Given the description of an element on the screen output the (x, y) to click on. 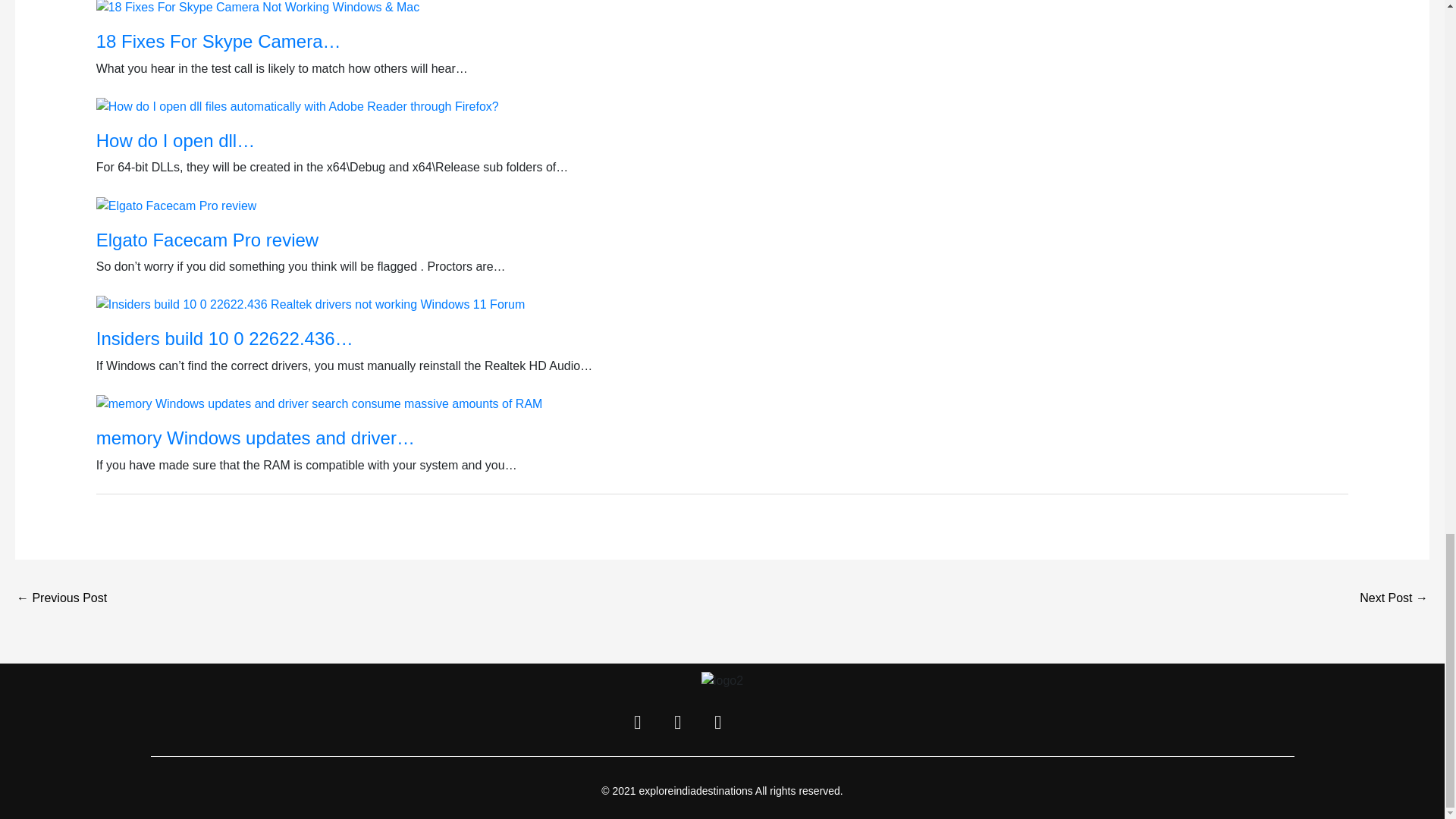
How To Fix Missing Device Drivers On Windows 11 (61, 599)
How to update drivers (1393, 599)
logo2 (721, 680)
